Given the description of an element on the screen output the (x, y) to click on. 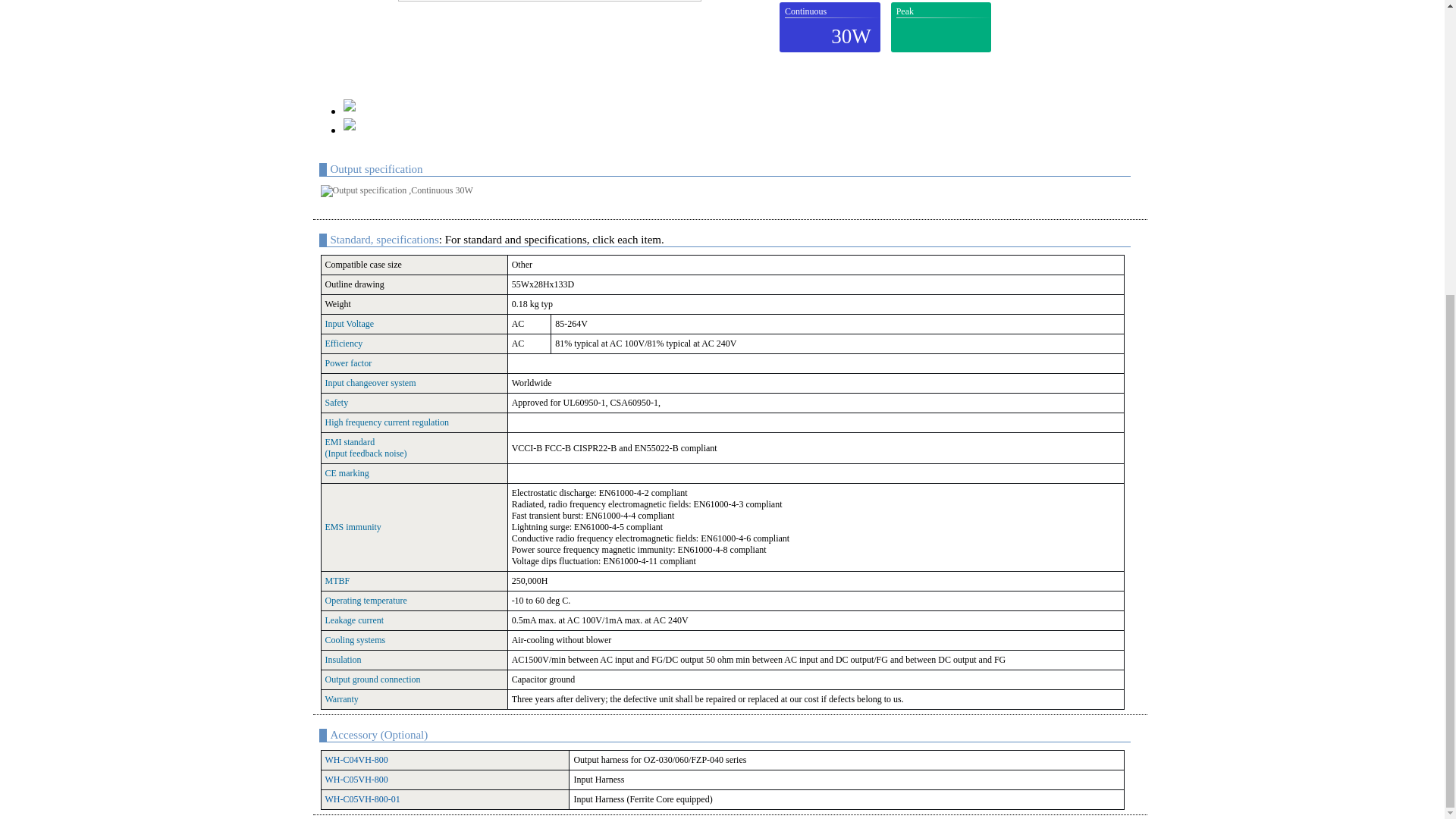
WH-C05VH-800 (355, 778)
Insulation (342, 659)
Input changeover system (369, 382)
High frequency current regulation (386, 421)
Power factor (347, 362)
Cooling systems (354, 639)
Leakage current (354, 620)
Safety (335, 402)
MTBF (336, 580)
Warranty (341, 698)
WH-C04VH-800 (355, 759)
Efficiency (343, 343)
WH-C05VH-800-01 (361, 798)
EMS immunity (352, 526)
Operating temperature (365, 600)
